Given the description of an element on the screen output the (x, y) to click on. 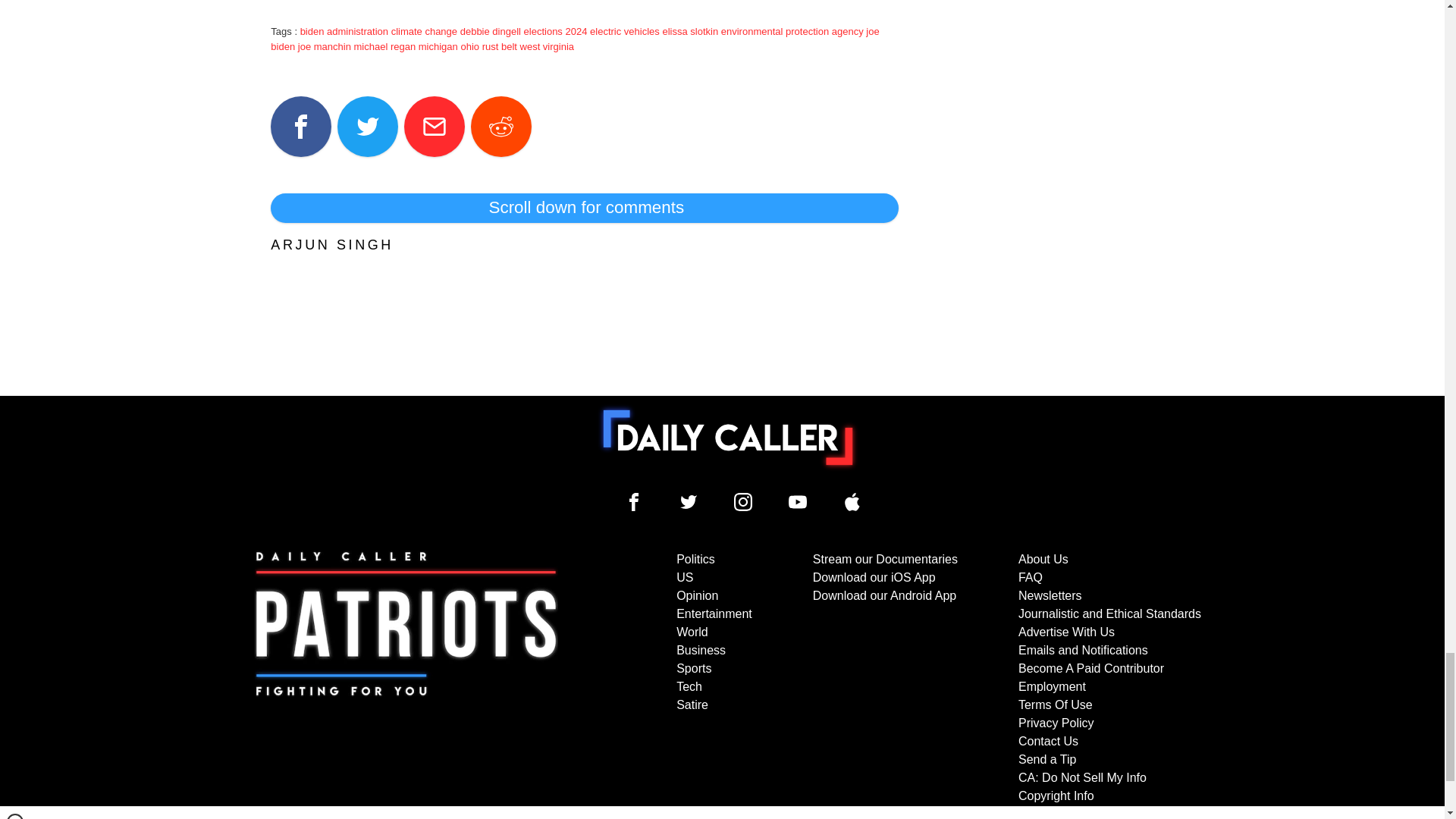
Daily Caller Twitter (688, 502)
Daily Caller YouTube (797, 502)
Daily Caller Instagram (742, 502)
Subscribe to The Daily Caller (405, 677)
Scroll down for comments (584, 207)
Daily Caller Facebook (633, 502)
To home page (727, 437)
Daily Caller YouTube (852, 502)
